Given the description of an element on the screen output the (x, y) to click on. 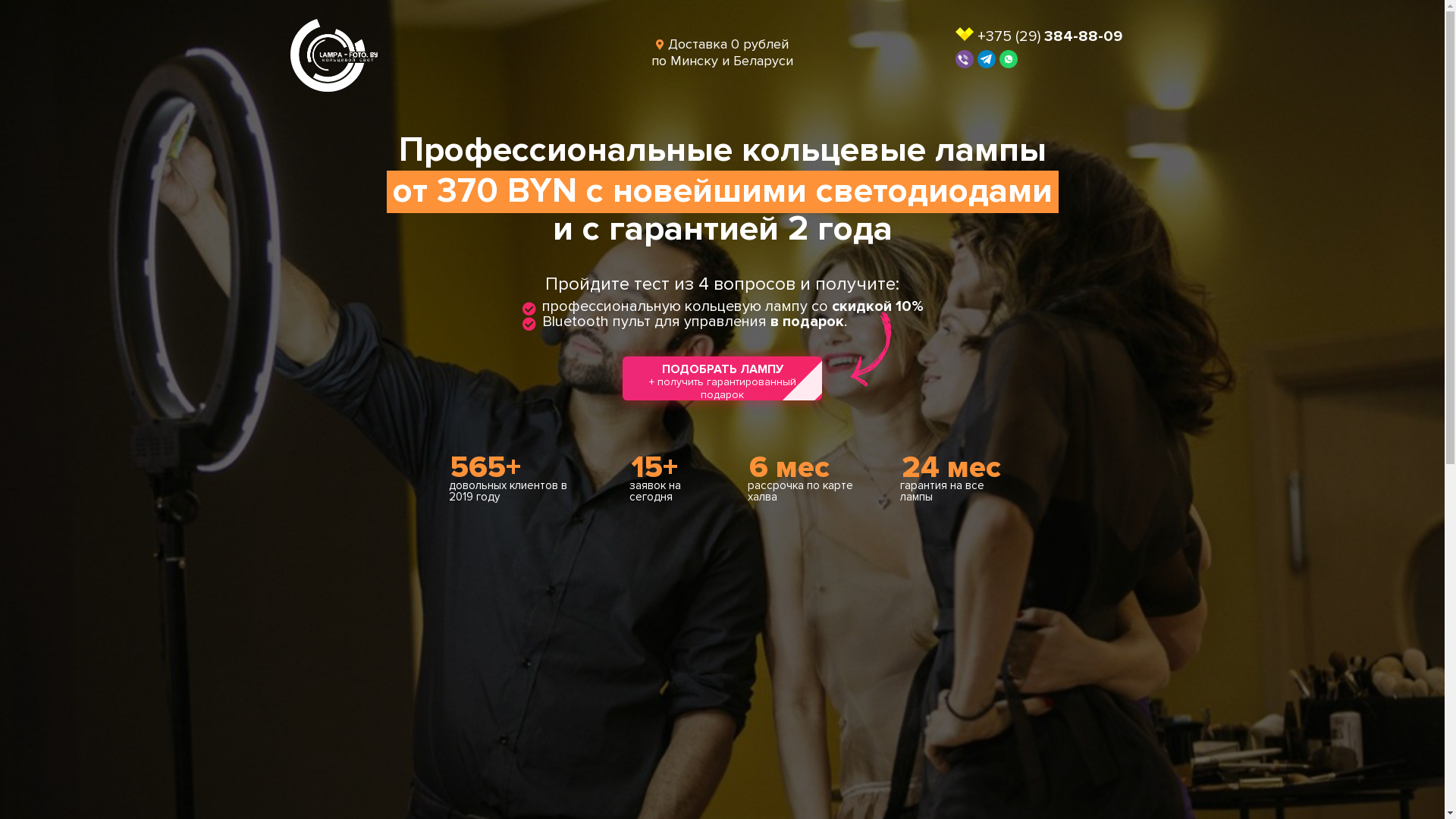
+375 (29) 384-88-09 Element type: text (1049, 36)
